Given the description of an element on the screen output the (x, y) to click on. 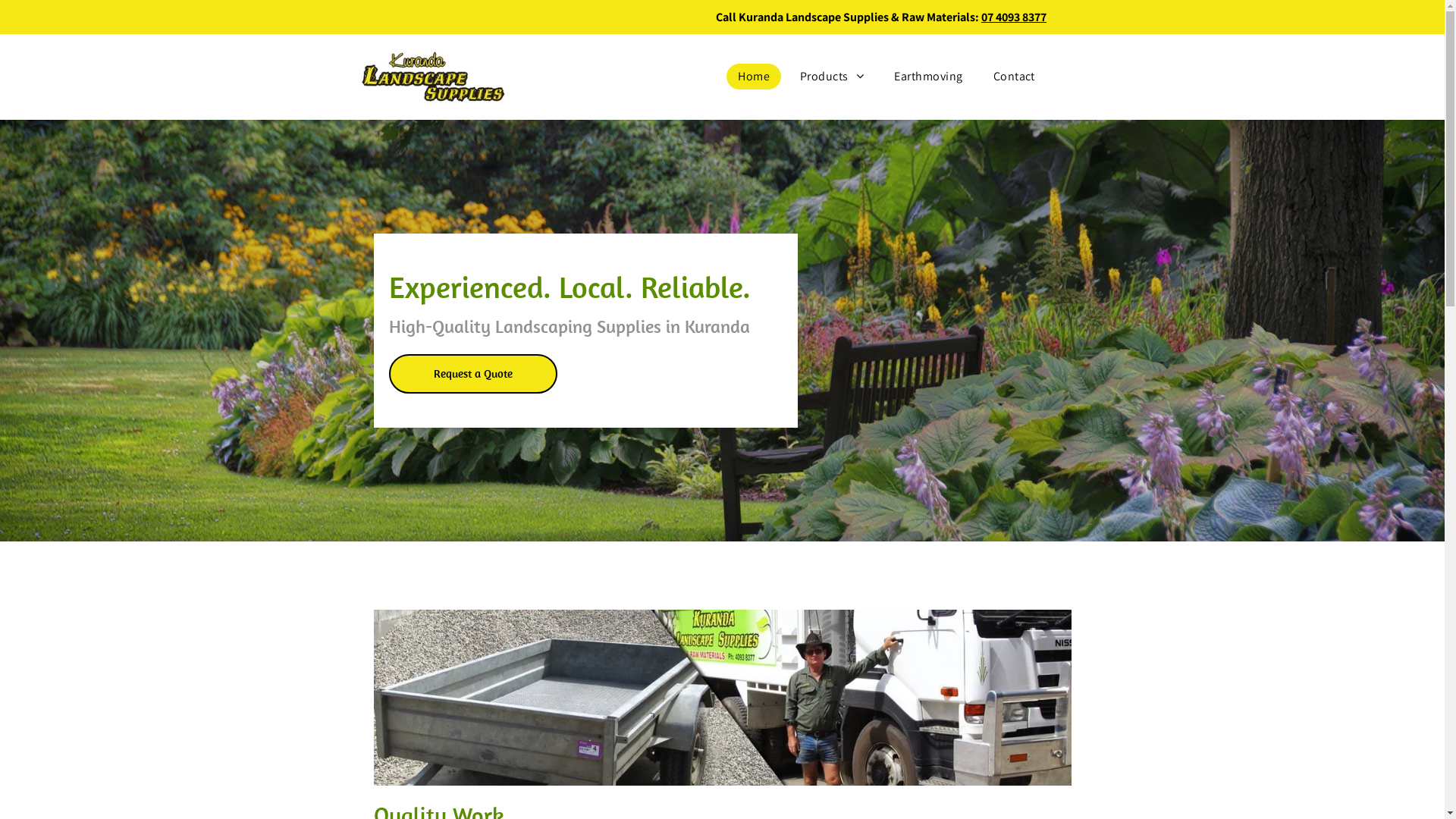
Products Element type: text (831, 76)
Contact Element type: text (1014, 76)
07 4093 8377 Element type: text (1013, 17)
Home Element type: text (753, 76)
Earthmoving Element type: text (927, 76)
Request a Quote Element type: text (472, 373)
